Given the description of an element on the screen output the (x, y) to click on. 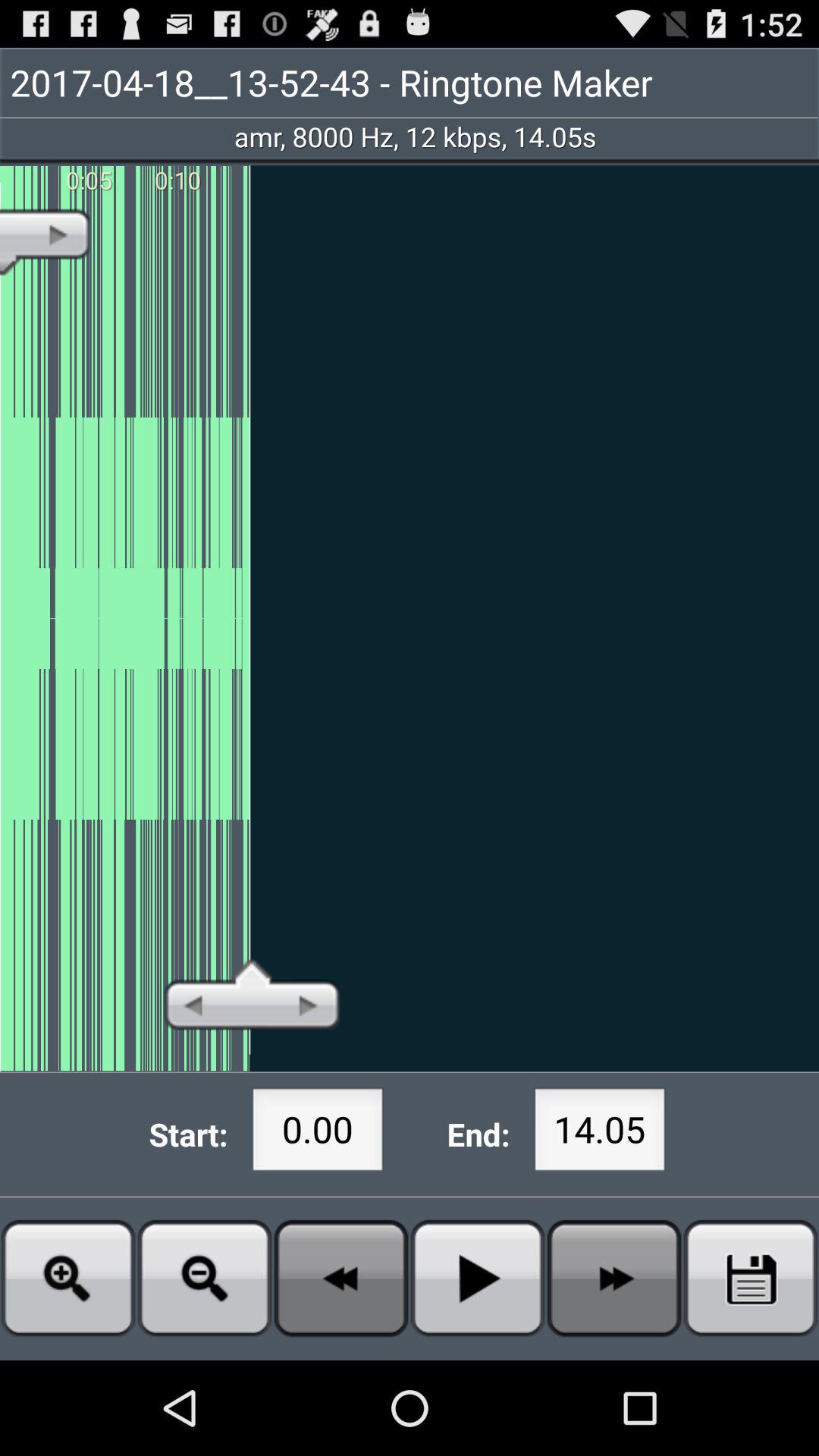
play button (477, 1278)
